Given the description of an element on the screen output the (x, y) to click on. 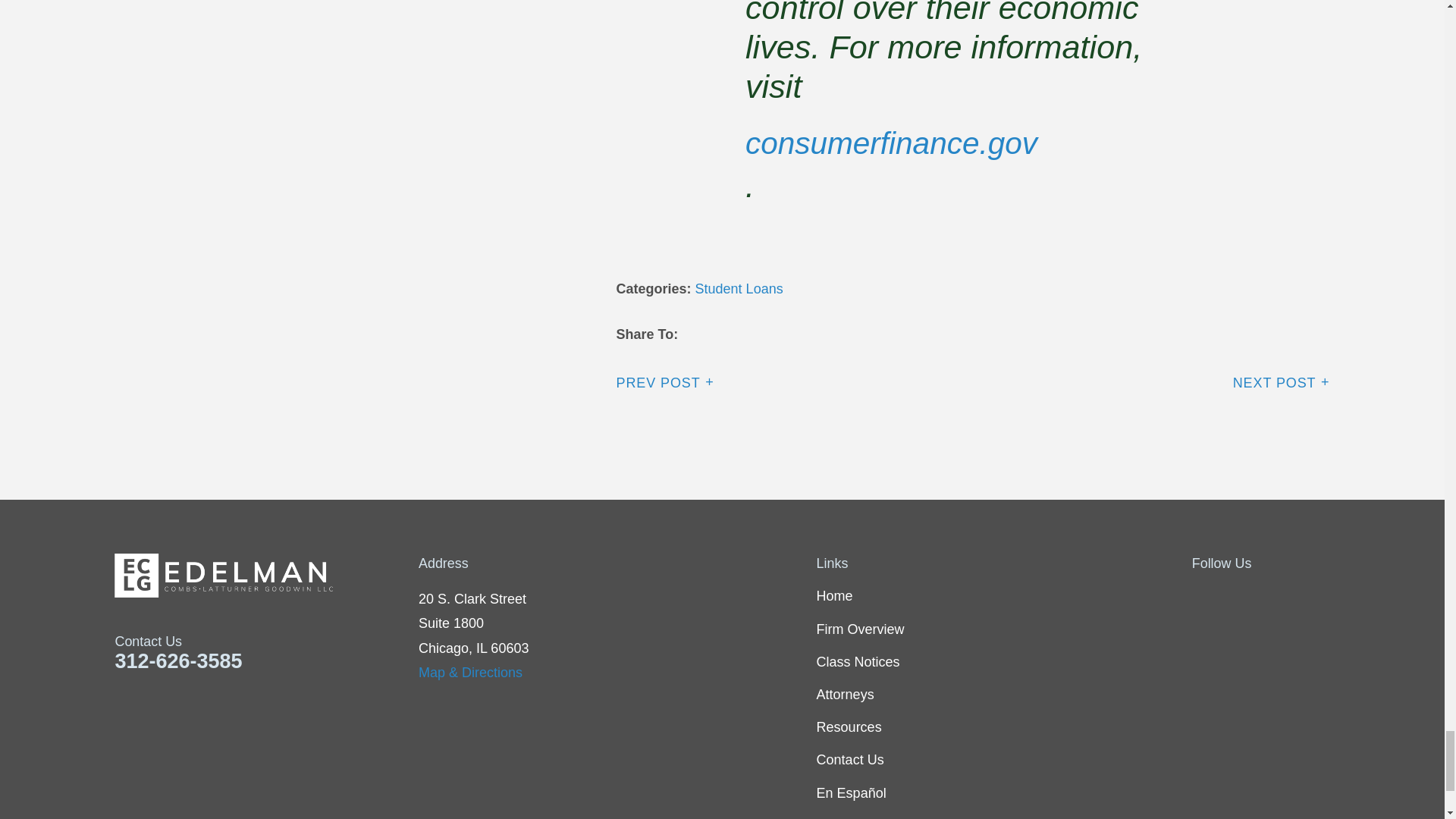
Twitter (1240, 596)
Home (267, 575)
Yelp (1280, 596)
Facebook (1201, 596)
Google Business Profile (1319, 596)
